Given the description of an element on the screen output the (x, y) to click on. 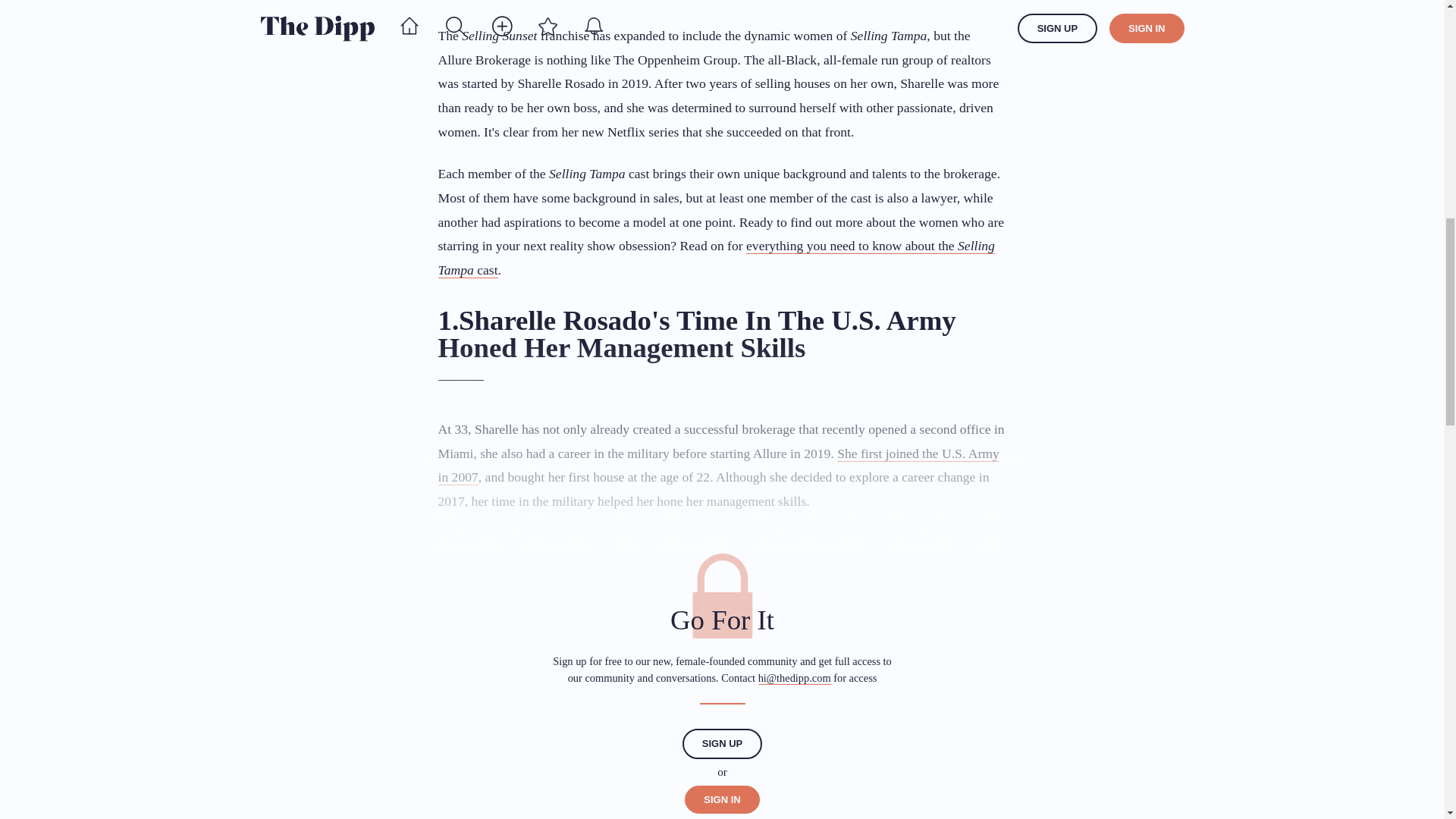
SIGN UP (721, 743)
SIGN IN (721, 799)
everything you need to know about the Selling Tampa cast (716, 258)
She first joined the U.S. Army in 2007 (718, 465)
